Given the description of an element on the screen output the (x, y) to click on. 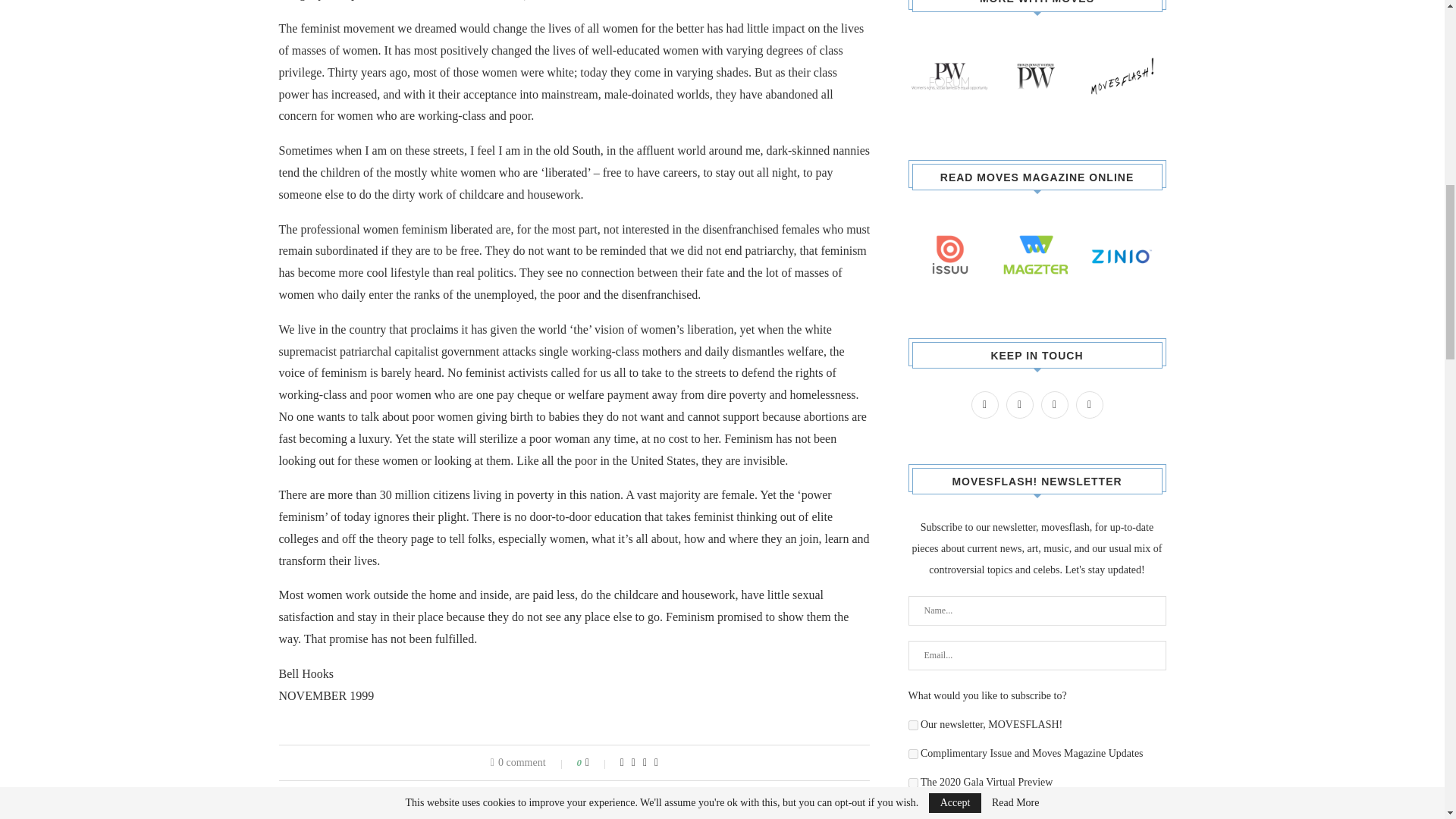
Like (597, 762)
Subscribe (1037, 813)
fb5e4d2cbb (913, 782)
f95fda35ae (913, 754)
746c20e49d (913, 725)
